Given the description of an element on the screen output the (x, y) to click on. 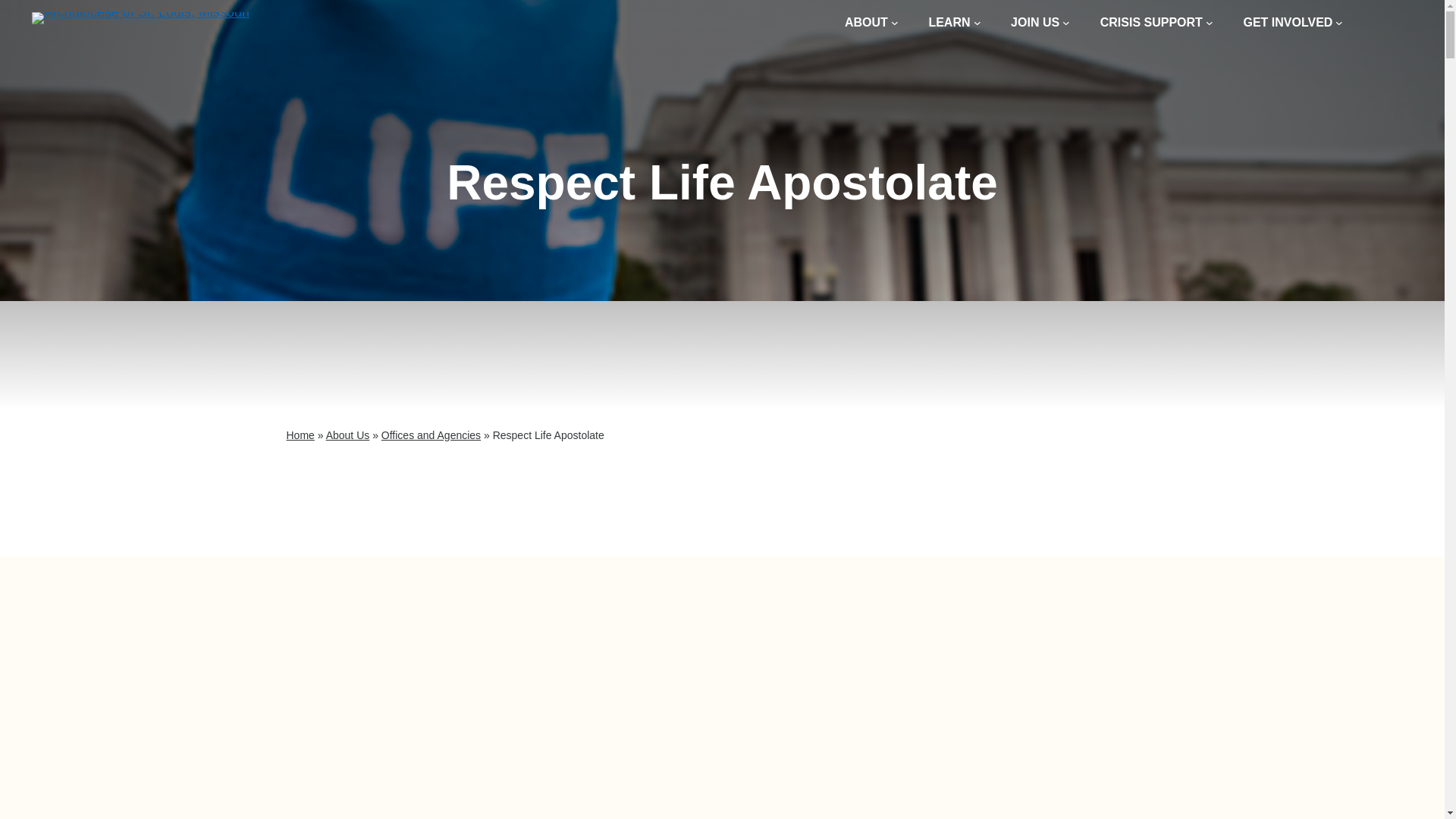
LEARN (953, 22)
search (1392, 22)
JOIN US (1040, 22)
CRISIS SUPPORT (1156, 22)
GET INVOLVED (1292, 22)
ABOUT (871, 22)
